Given the description of an element on the screen output the (x, y) to click on. 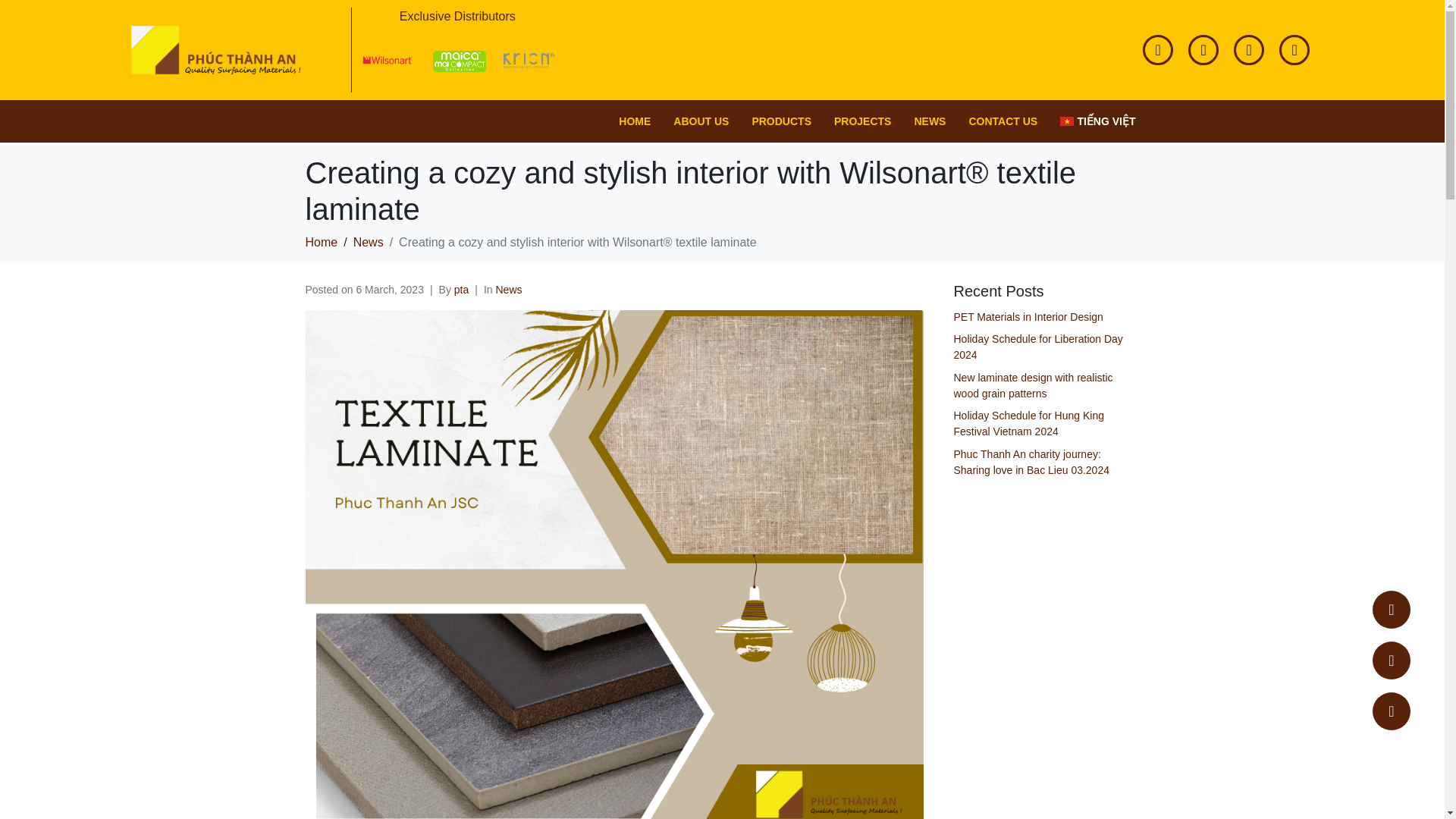
NEWS (929, 121)
PROJECTS (862, 121)
PRODUCTS (780, 121)
CONTACT US (1002, 121)
ABOUT US (700, 121)
HOME (634, 121)
